Given the description of an element on the screen output the (x, y) to click on. 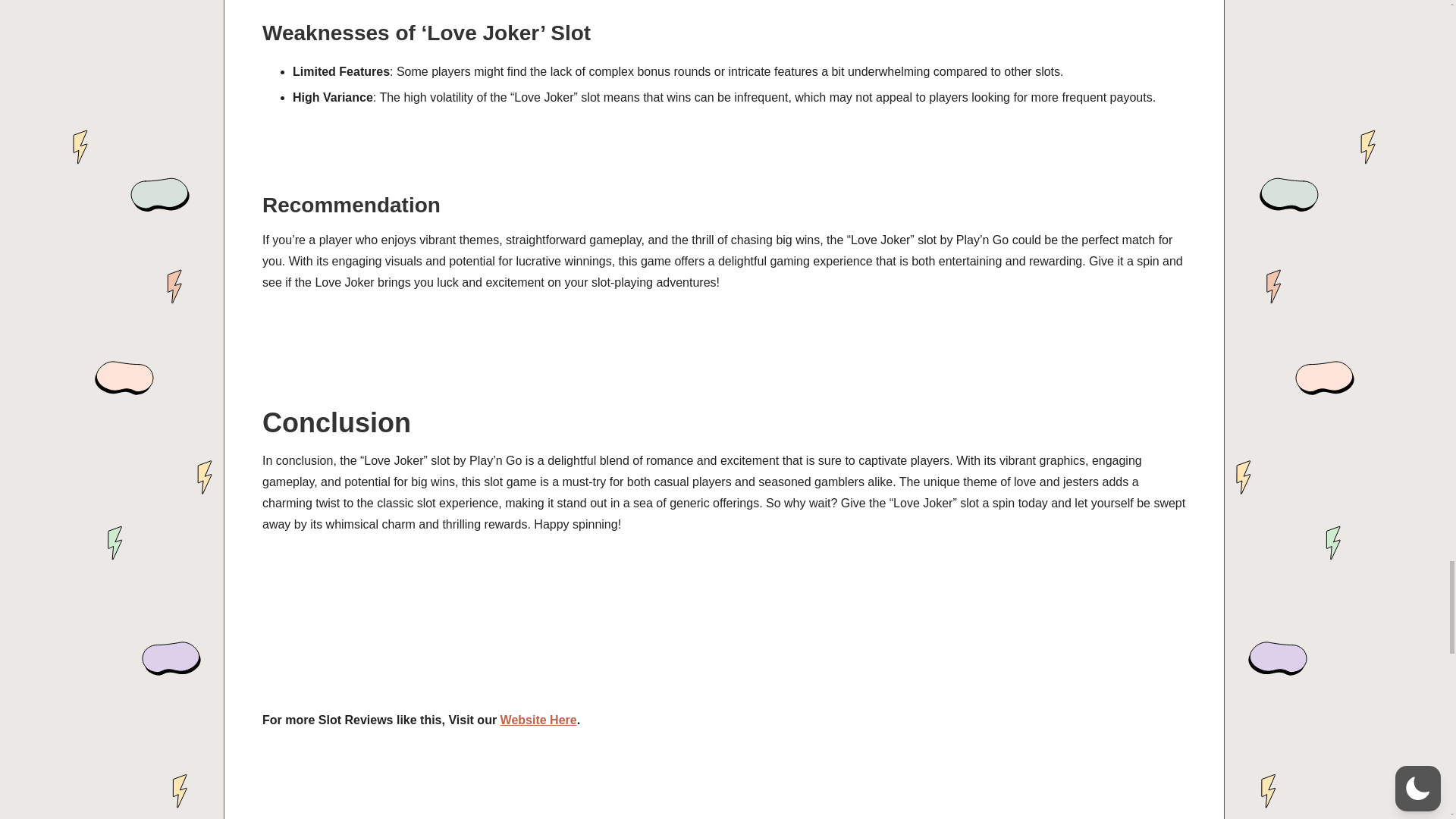
Website Here (538, 719)
